Given the description of an element on the screen output the (x, y) to click on. 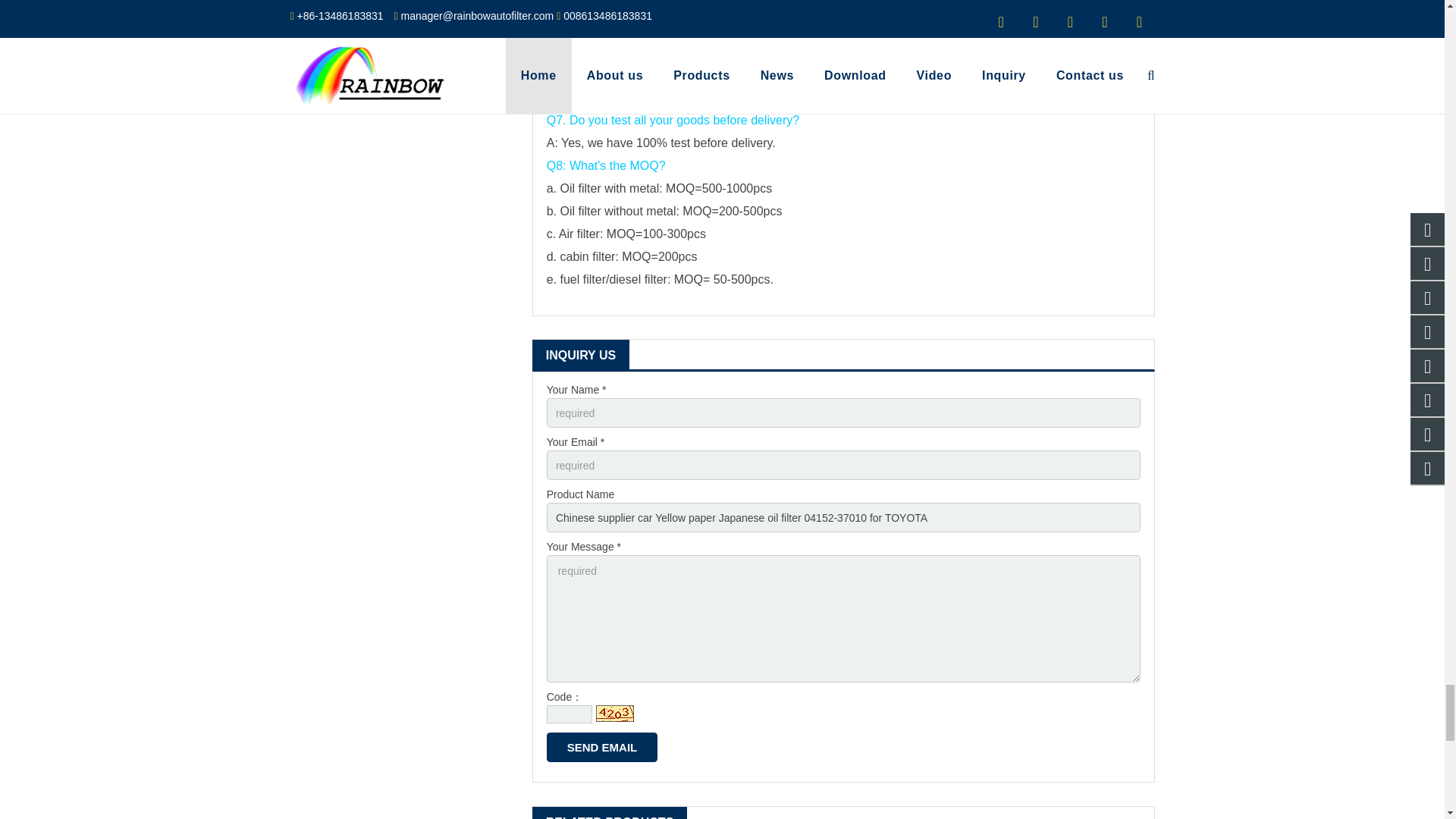
Send Email (602, 747)
